Given the description of an element on the screen output the (x, y) to click on. 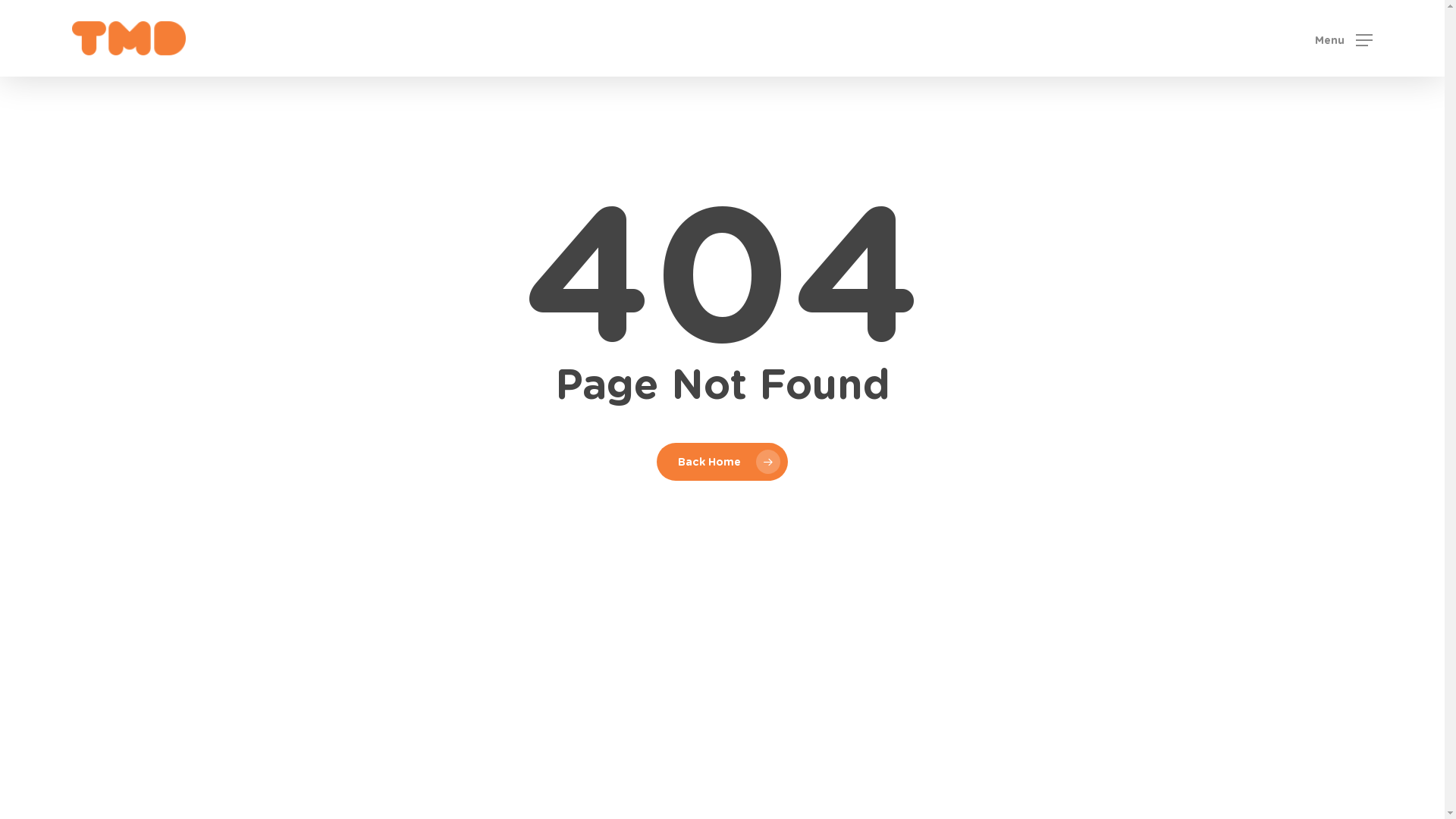
Back Home Element type: text (721, 461)
Menu Element type: text (1343, 38)
